Given the description of an element on the screen output the (x, y) to click on. 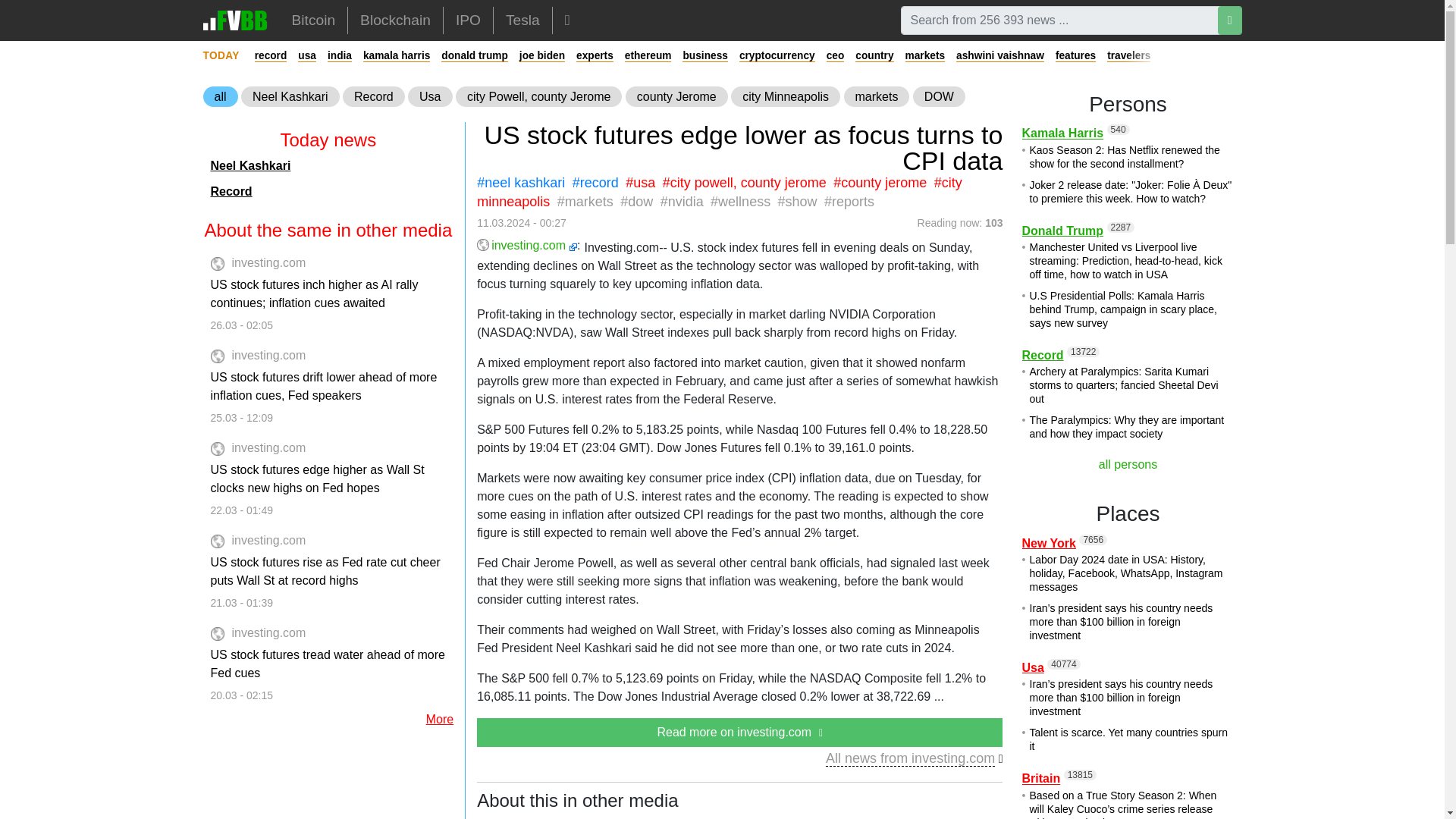
IPO (468, 19)
Blockchain (394, 19)
Bitcoin (313, 19)
Tesla (522, 19)
Tesla (522, 19)
Blockchain (394, 19)
Bitcoin (313, 19)
IPO (468, 19)
More (567, 19)
